Given the description of an element on the screen output the (x, y) to click on. 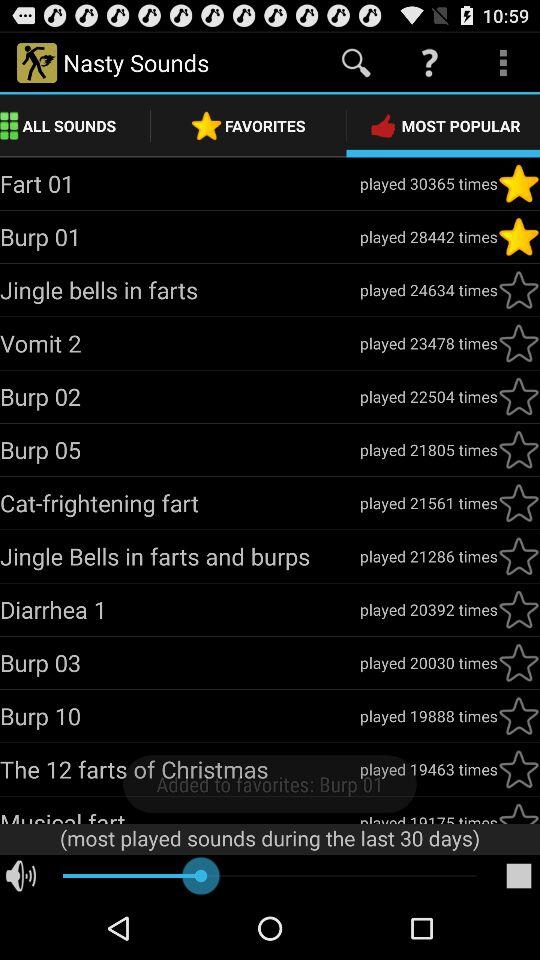
favorite (519, 609)
